Given the description of an element on the screen output the (x, y) to click on. 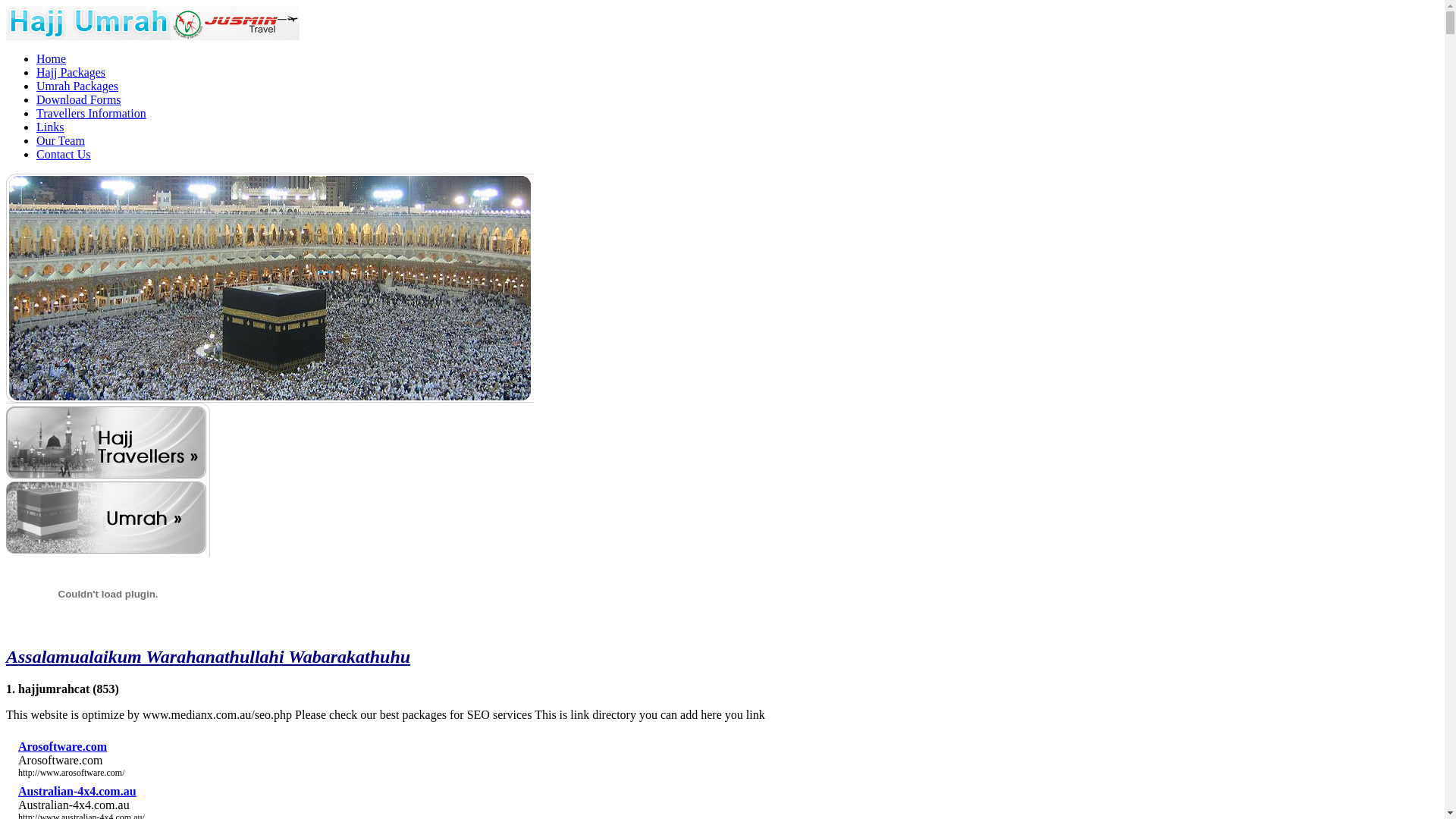
Australian-4x4.com.au Element type: text (77, 790)
Download Forms Element type: text (78, 99)
Our Team Element type: text (60, 140)
Home Element type: text (50, 58)
Umrah Packages Element type: text (77, 85)
Contact Us Element type: text (63, 153)
Links Element type: text (49, 126)
Travellers Information Element type: text (91, 112)
Sound Element type: hover (108, 593)
Arosoftware.com Element type: text (62, 746)
Hajj Packages Element type: text (70, 71)
